Given the description of an element on the screen output the (x, y) to click on. 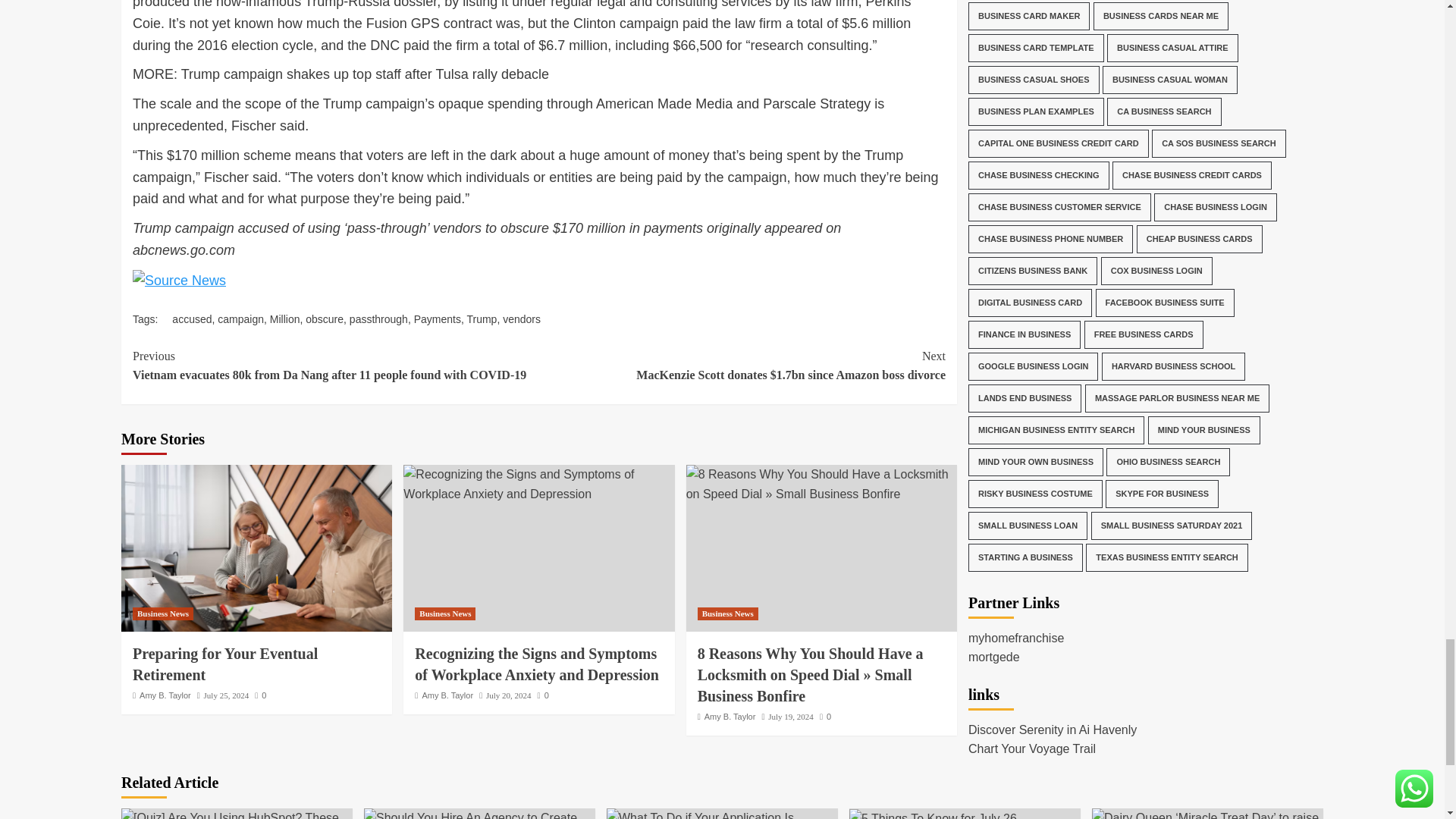
Preparing for Your Eventual Retirement (255, 548)
vendors (521, 318)
passthrough (378, 318)
Tags: (151, 318)
Million (284, 318)
campaign (239, 318)
accused (191, 318)
Payments (437, 318)
obscure (324, 318)
Trump (480, 318)
